Given the description of an element on the screen output the (x, y) to click on. 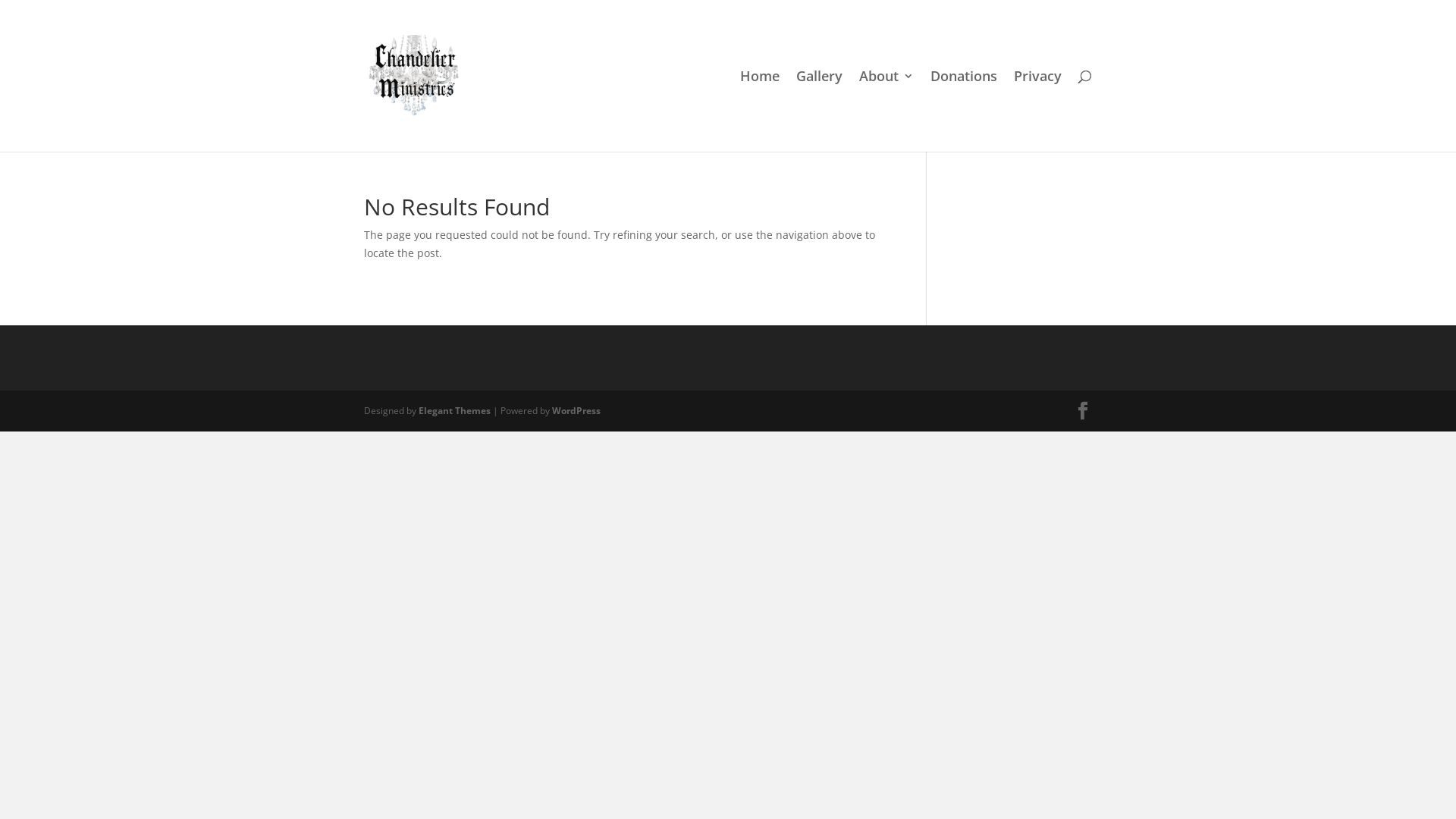
Home Element type: text (759, 110)
Privacy Element type: text (1037, 110)
About Element type: text (886, 110)
WordPress Element type: text (576, 410)
Donations Element type: text (963, 110)
Elegant Themes Element type: text (454, 410)
Gallery Element type: text (819, 110)
